Given the description of an element on the screen output the (x, y) to click on. 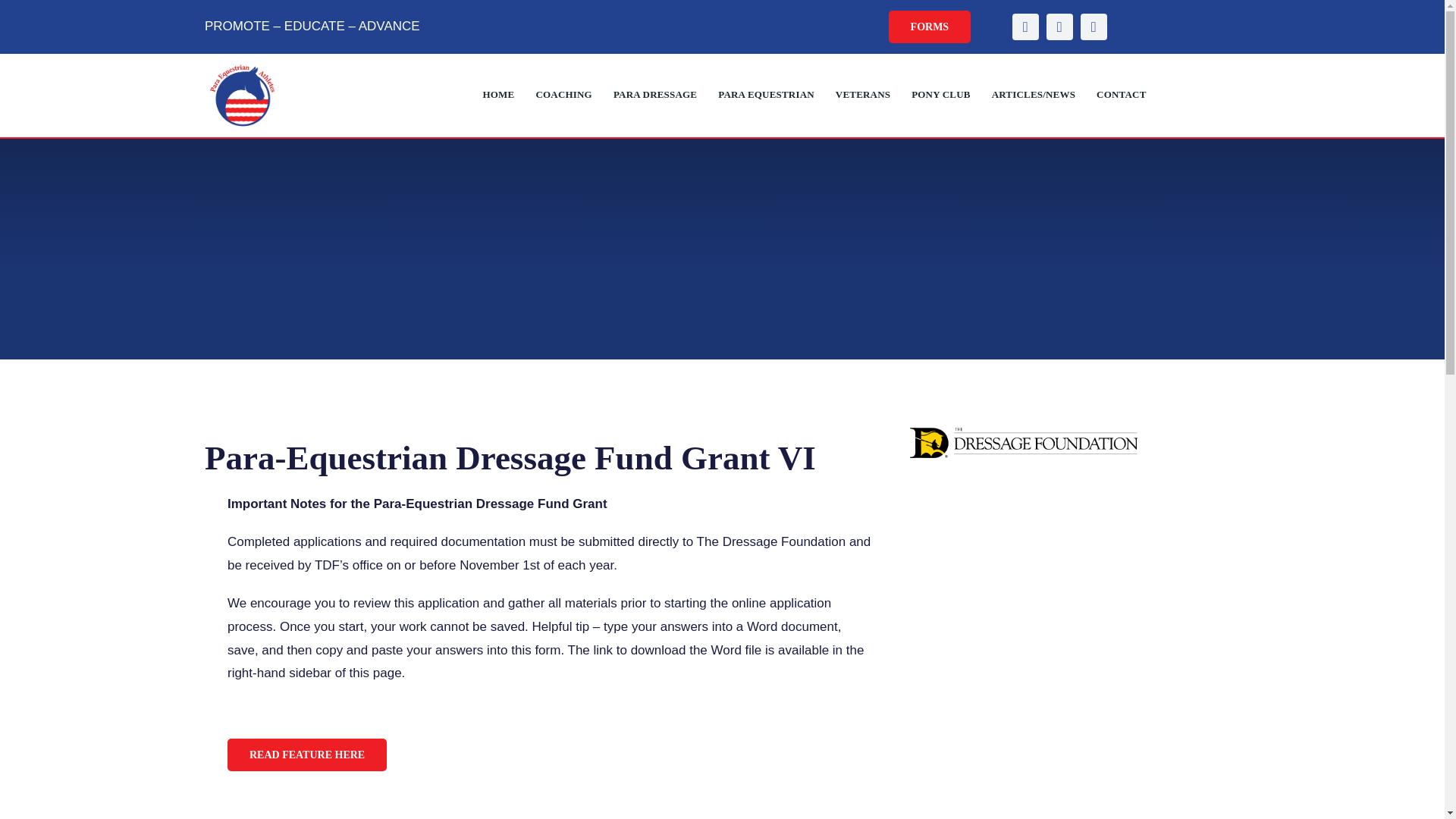
HOME (497, 94)
FORMS (929, 26)
VETERANS (863, 94)
PARA DRESSAGE (654, 94)
PARA EQUESTRIAN (766, 94)
COACHING (563, 94)
CONTACT (1121, 94)
PONY CLUB (940, 94)
